Given the description of an element on the screen output the (x, y) to click on. 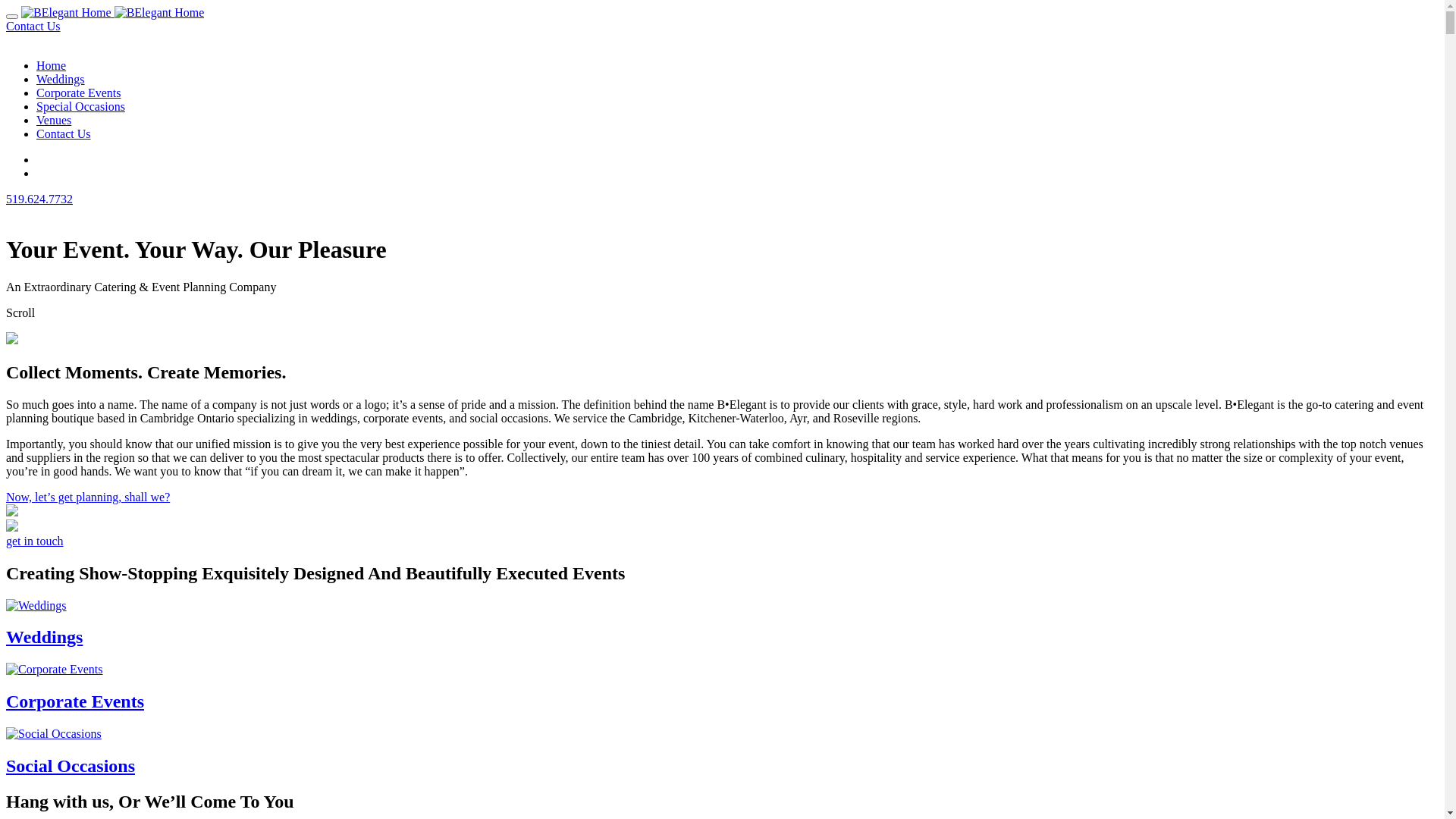
Contact Us Element type: text (63, 133)
Special Occasions Element type: text (80, 106)
Venues Element type: text (53, 119)
Social Occasions Element type: text (722, 751)
Weddings Element type: text (722, 623)
Corporate Events Element type: text (78, 92)
Corporate Events Element type: text (722, 687)
Weddings Element type: text (60, 78)
519.624.7732 Element type: text (39, 198)
get in touch Element type: text (34, 540)
Contact Us Element type: text (33, 25)
Home Element type: text (50, 65)
